Given the description of an element on the screen output the (x, y) to click on. 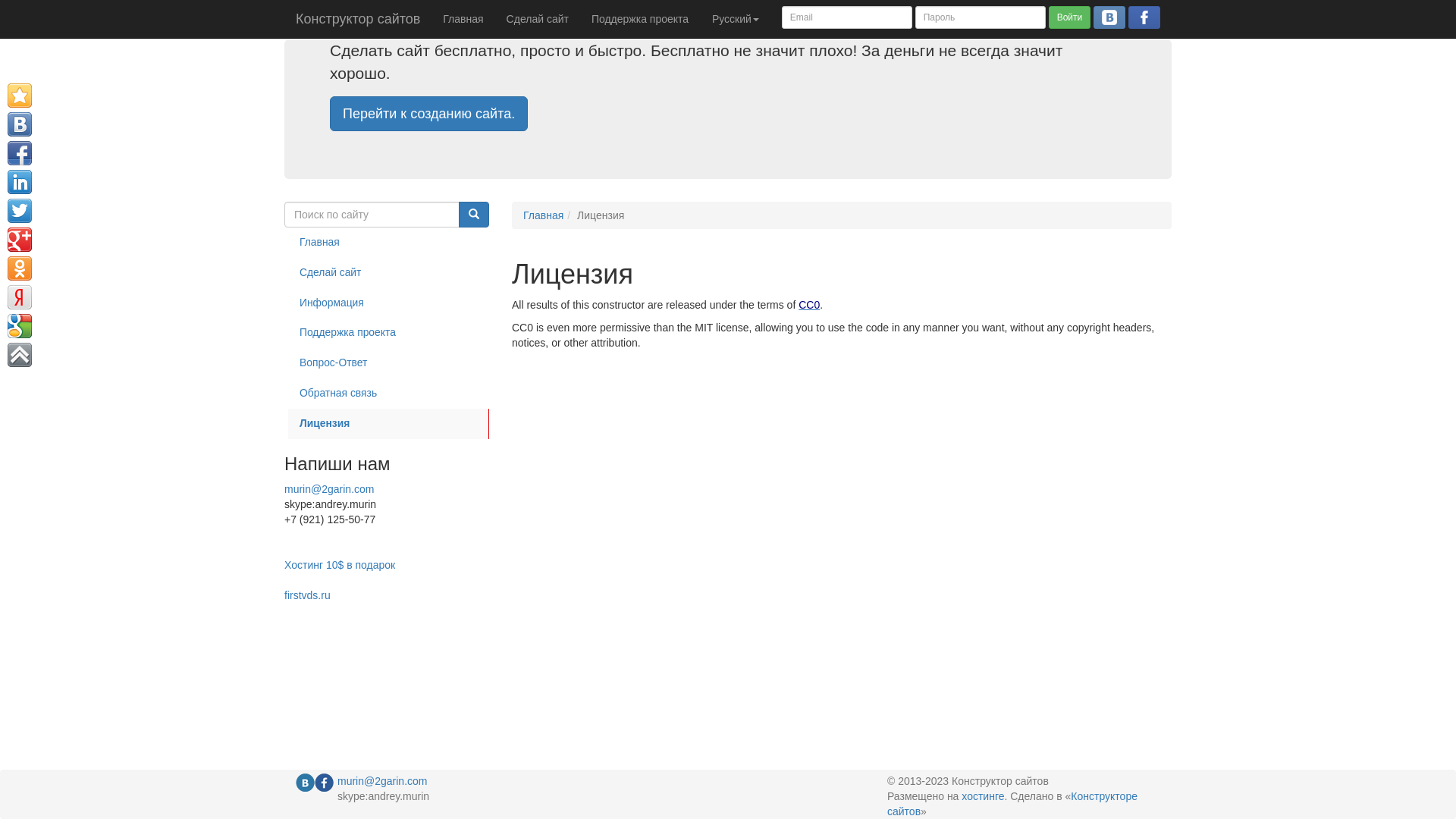
murin@2garin.com Element type: text (381, 781)
firstvds.ru Element type: text (307, 595)
Advertisement Element type: hover (1387, 280)
murin@2garin.com Element type: text (328, 489)
CC0 Element type: text (808, 304)
Advertisement Element type: hover (344, 652)
